Given the description of an element on the screen output the (x, y) to click on. 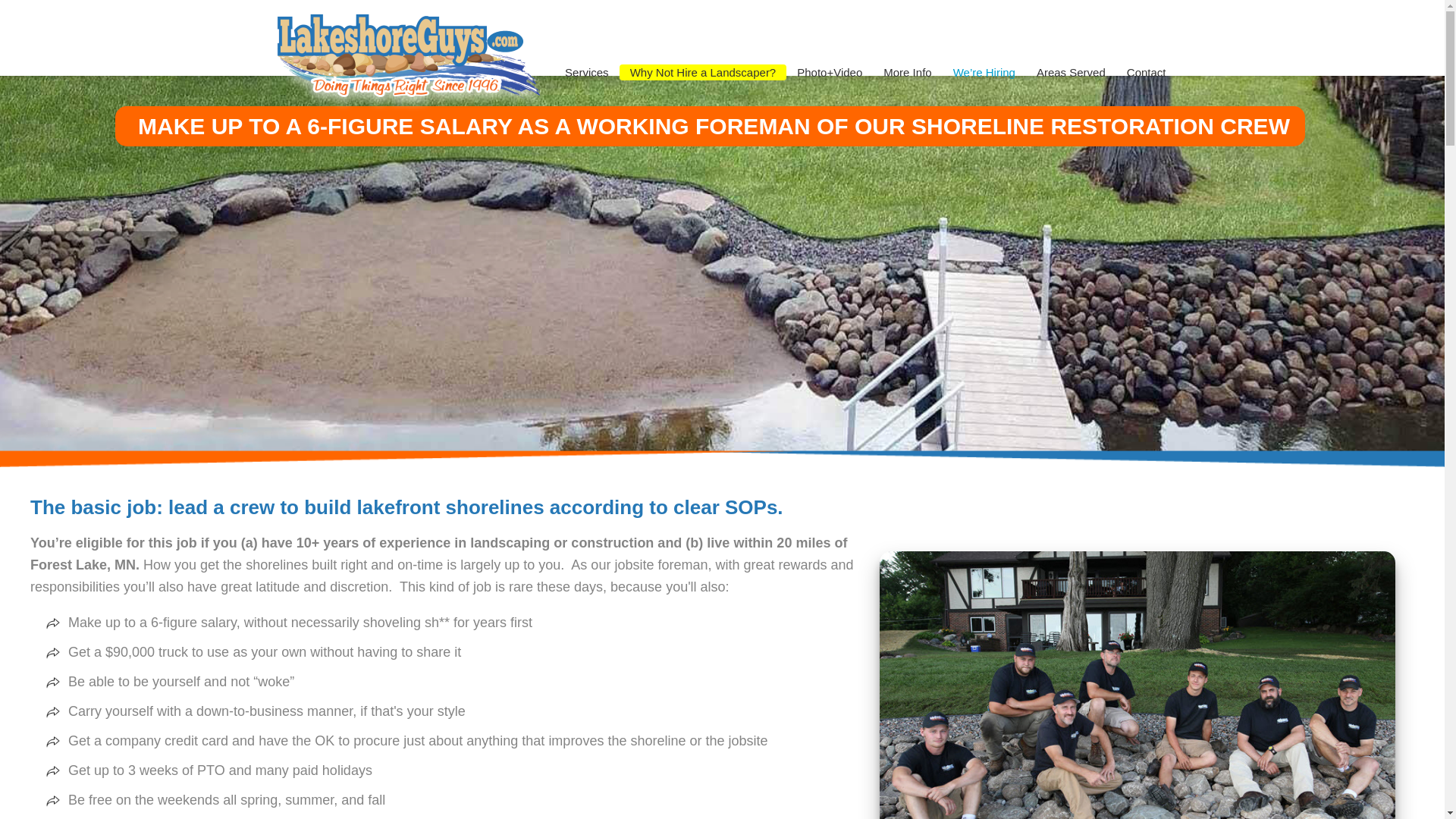
Why Not Hire a Landscaper? (703, 72)
Services (587, 72)
